Given the description of an element on the screen output the (x, y) to click on. 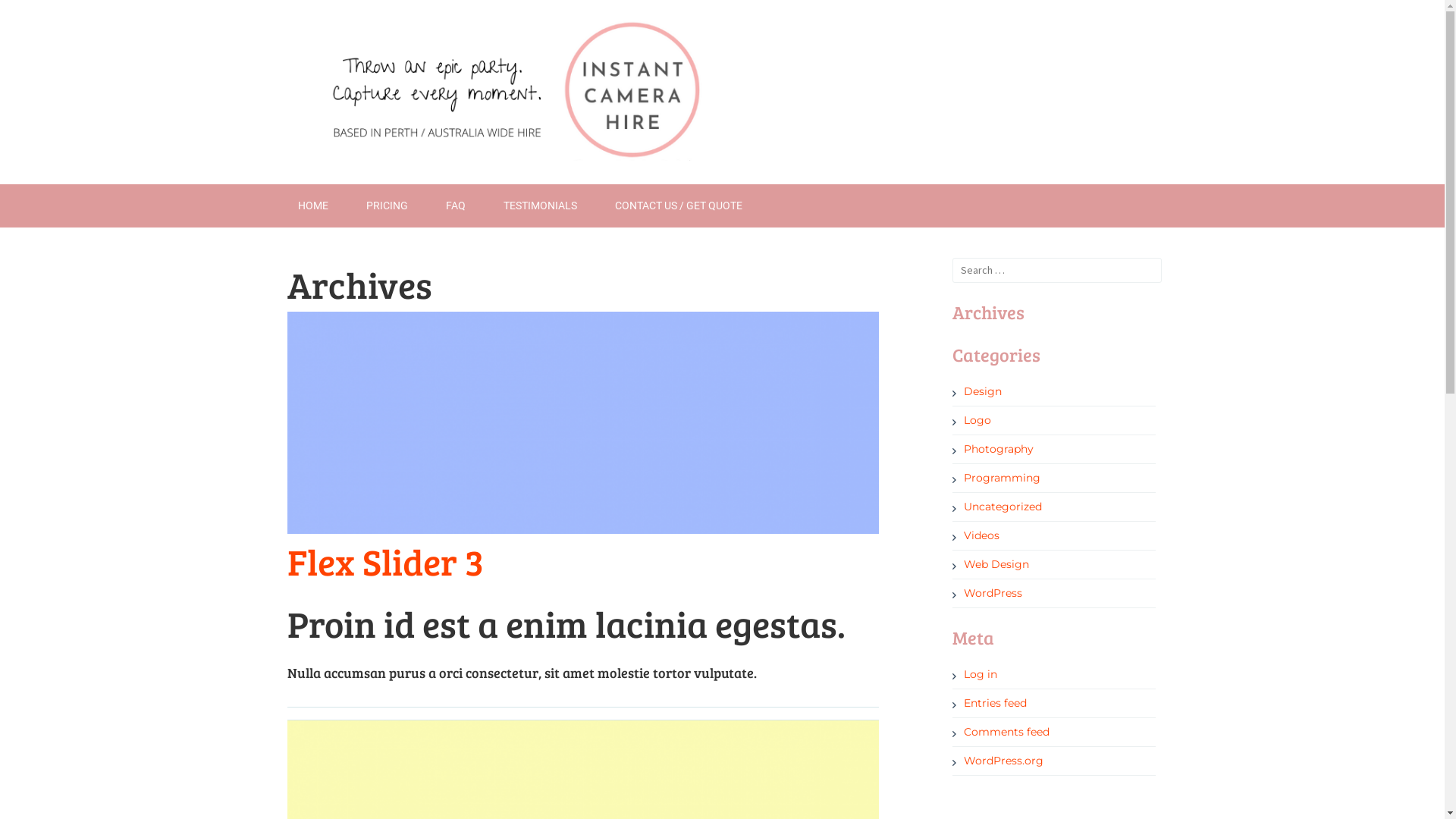
Search Element type: text (421, 9)
Comments feed Element type: text (1000, 731)
Design Element type: text (976, 391)
HOME Element type: text (313, 205)
Photography Element type: text (992, 448)
Videos Element type: text (975, 535)
CONTACT US / GET QUOTE Element type: text (678, 205)
WordPress Element type: text (987, 592)
Web Design Element type: text (990, 564)
Entries feed Element type: text (989, 702)
Flex Slider 3 Element type: text (385, 560)
Programming Element type: text (996, 477)
TESTIMONIALS Element type: text (539, 205)
Log in Element type: text (974, 673)
WordPress.org Element type: text (997, 760)
PRICING Element type: text (386, 205)
Skip to content Element type: text (296, 183)
FAQ Element type: text (454, 205)
Logo Element type: text (971, 419)
Uncategorized Element type: text (996, 506)
